Given the description of an element on the screen output the (x, y) to click on. 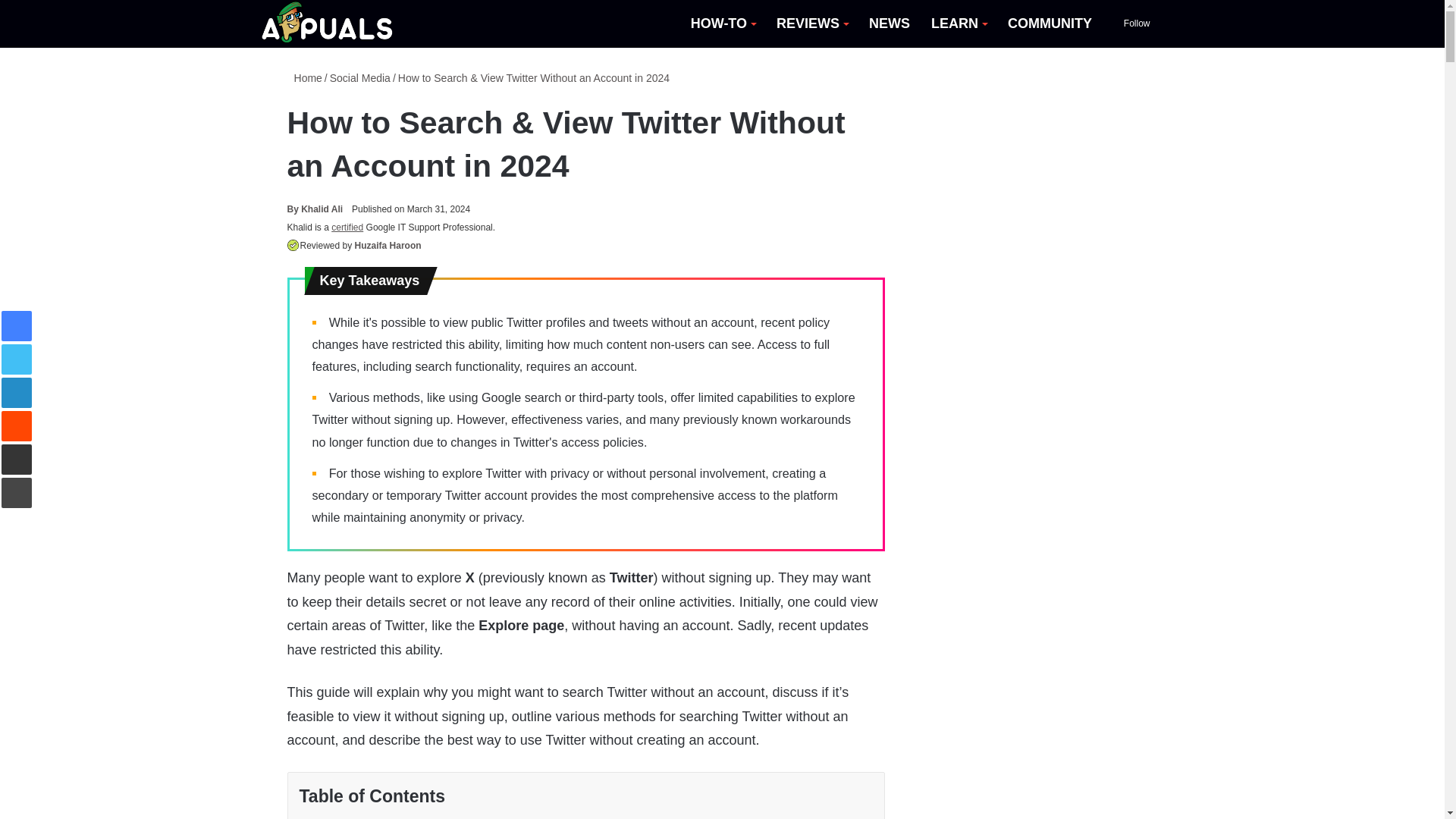
COMMUNITY (1049, 23)
LinkedIn (16, 392)
Appuals (327, 23)
Print (16, 492)
HOW-TO (722, 23)
LEARN (958, 23)
Twitter (16, 358)
Facebook (16, 326)
REVIEWS (812, 23)
NEWS (889, 23)
Share via Email (16, 459)
Reddit (16, 426)
Khalid Ali (314, 208)
